Given the description of an element on the screen output the (x, y) to click on. 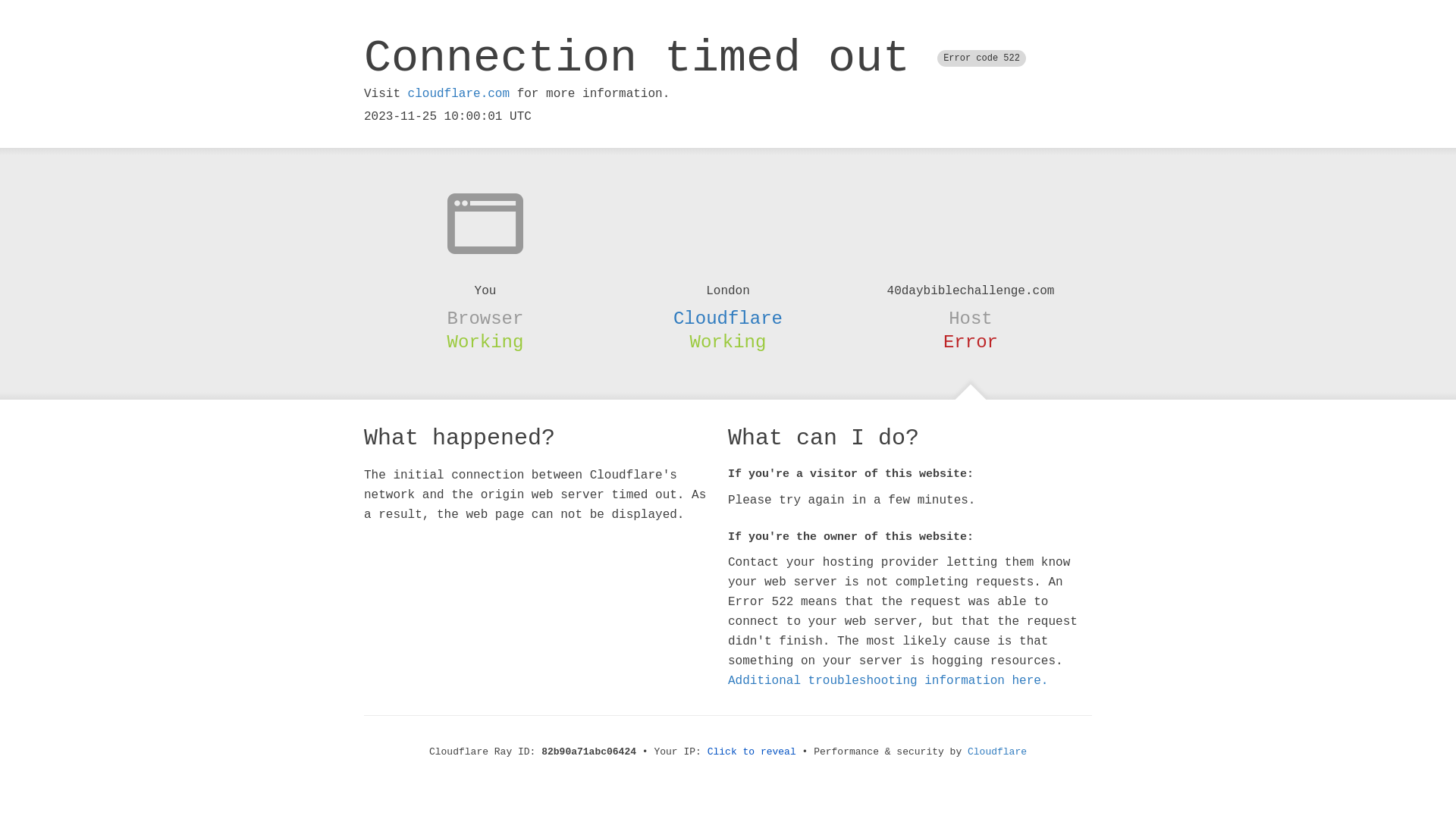
Click to reveal Element type: text (751, 751)
cloudflare.com Element type: text (458, 93)
Cloudflare Element type: text (996, 751)
Additional troubleshooting information here. Element type: text (888, 680)
Cloudflare Element type: text (727, 318)
